Given the description of an element on the screen output the (x, y) to click on. 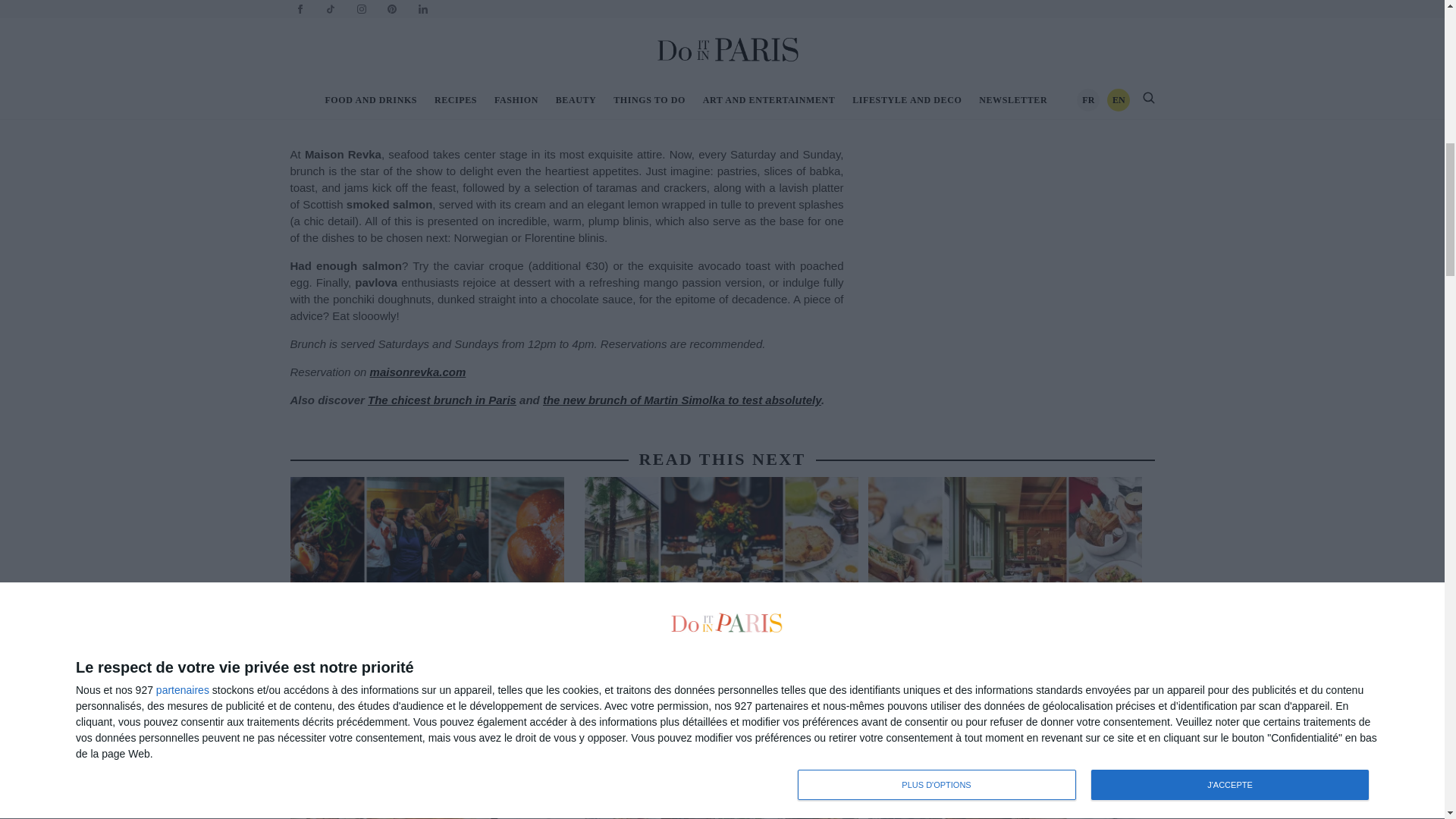
mail (940, 67)
facebook (917, 67)
